Given the description of an element on the screen output the (x, y) to click on. 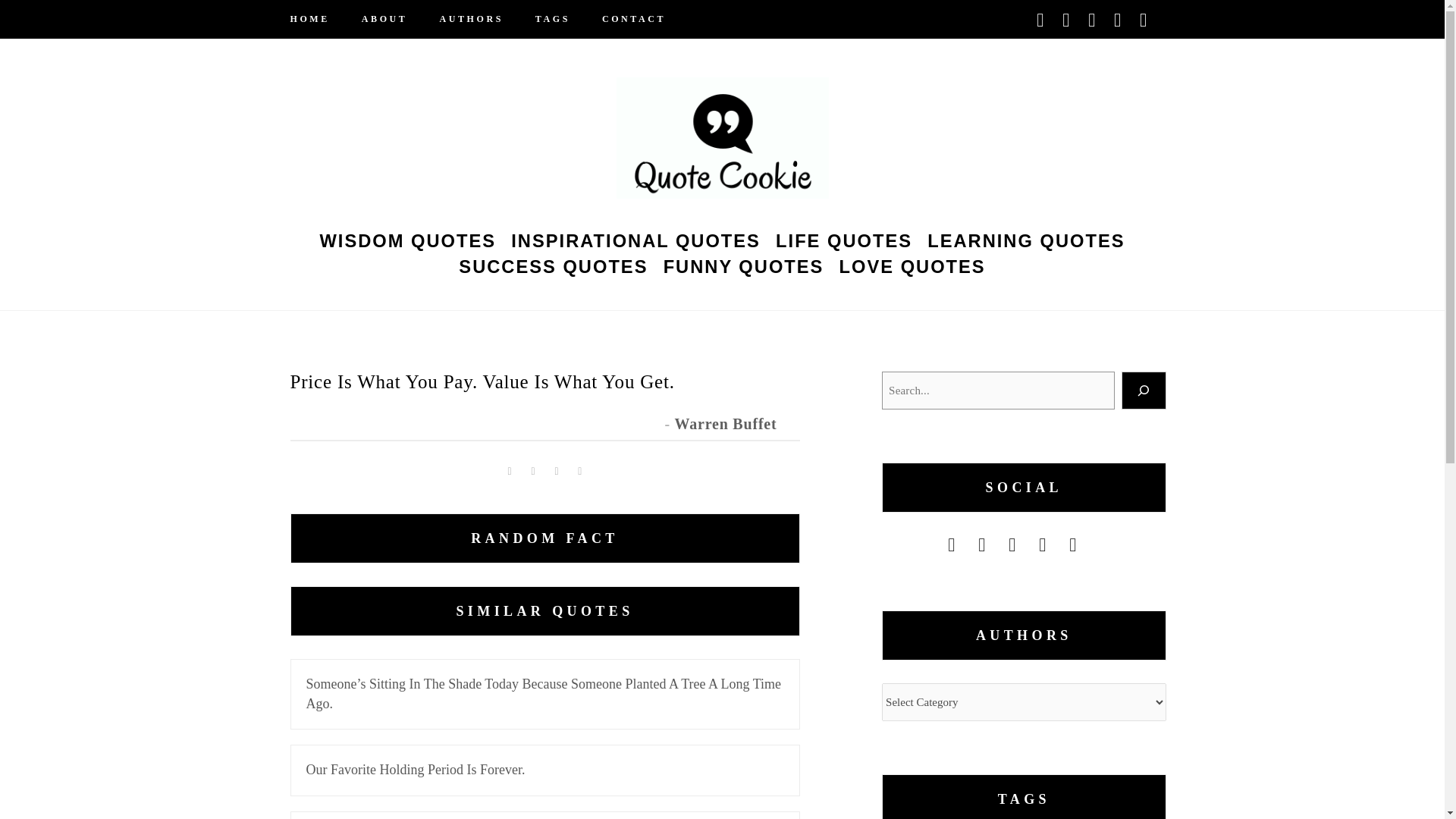
AUTHORS (471, 19)
Warren Buffet (725, 423)
CONTACT (626, 19)
LIFE QUOTES (844, 238)
Our Favorite Holding Period Is Forever. (544, 770)
HOME (316, 19)
WISDOM QUOTES (407, 238)
TAGS (553, 19)
LOVE QUOTES (911, 263)
FUNNY QUOTES (743, 263)
INSPIRATIONAL QUOTES (636, 238)
ABOUT (384, 19)
LEARNING QUOTES (1026, 238)
SUCCESS QUOTES (552, 263)
